Given the description of an element on the screen output the (x, y) to click on. 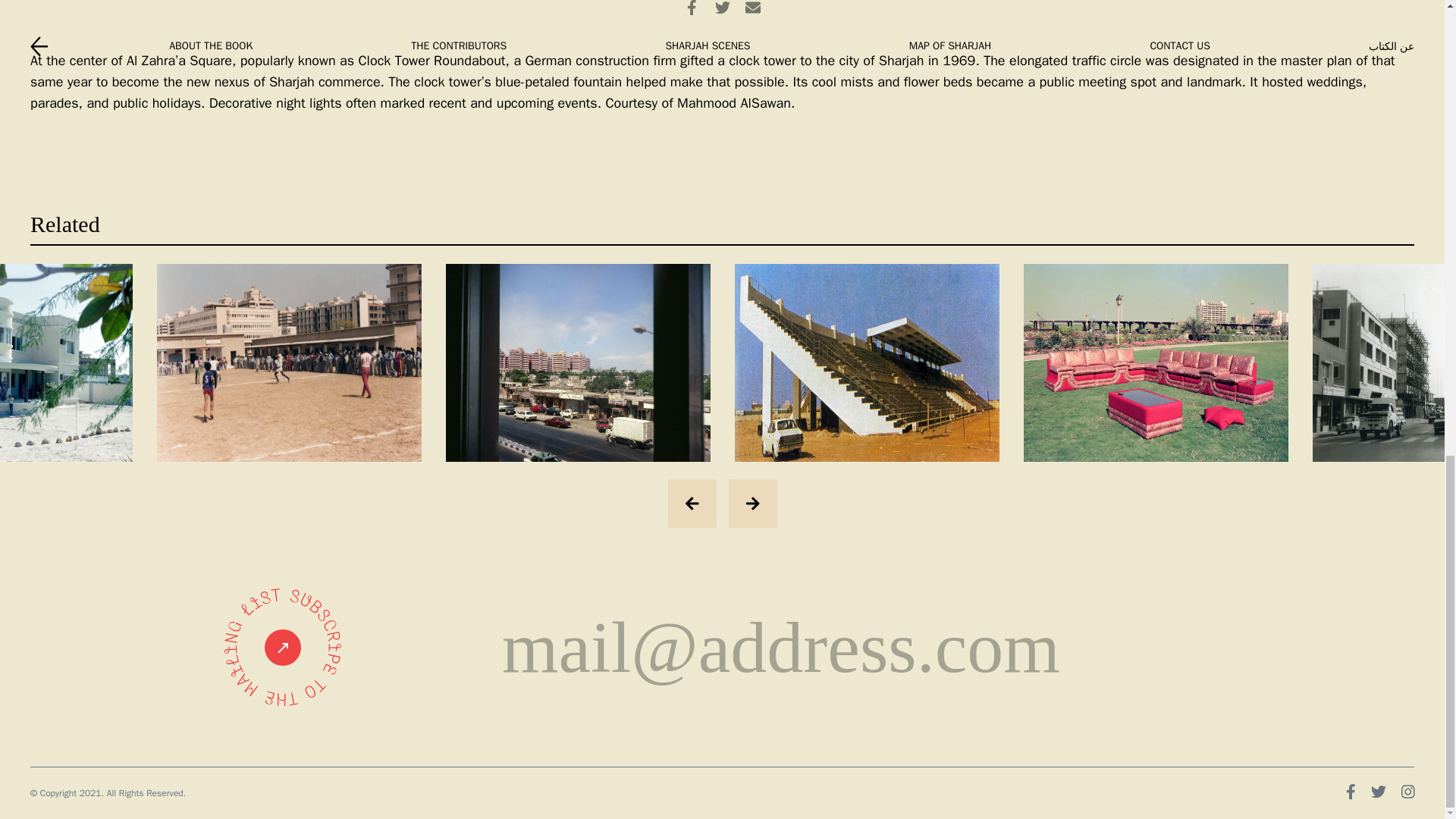
Granada Buildings (577, 362)
Smile, You Are in Sharjah (1155, 362)
Al Qasimiyah School (287, 362)
